Given the description of an element on the screen output the (x, y) to click on. 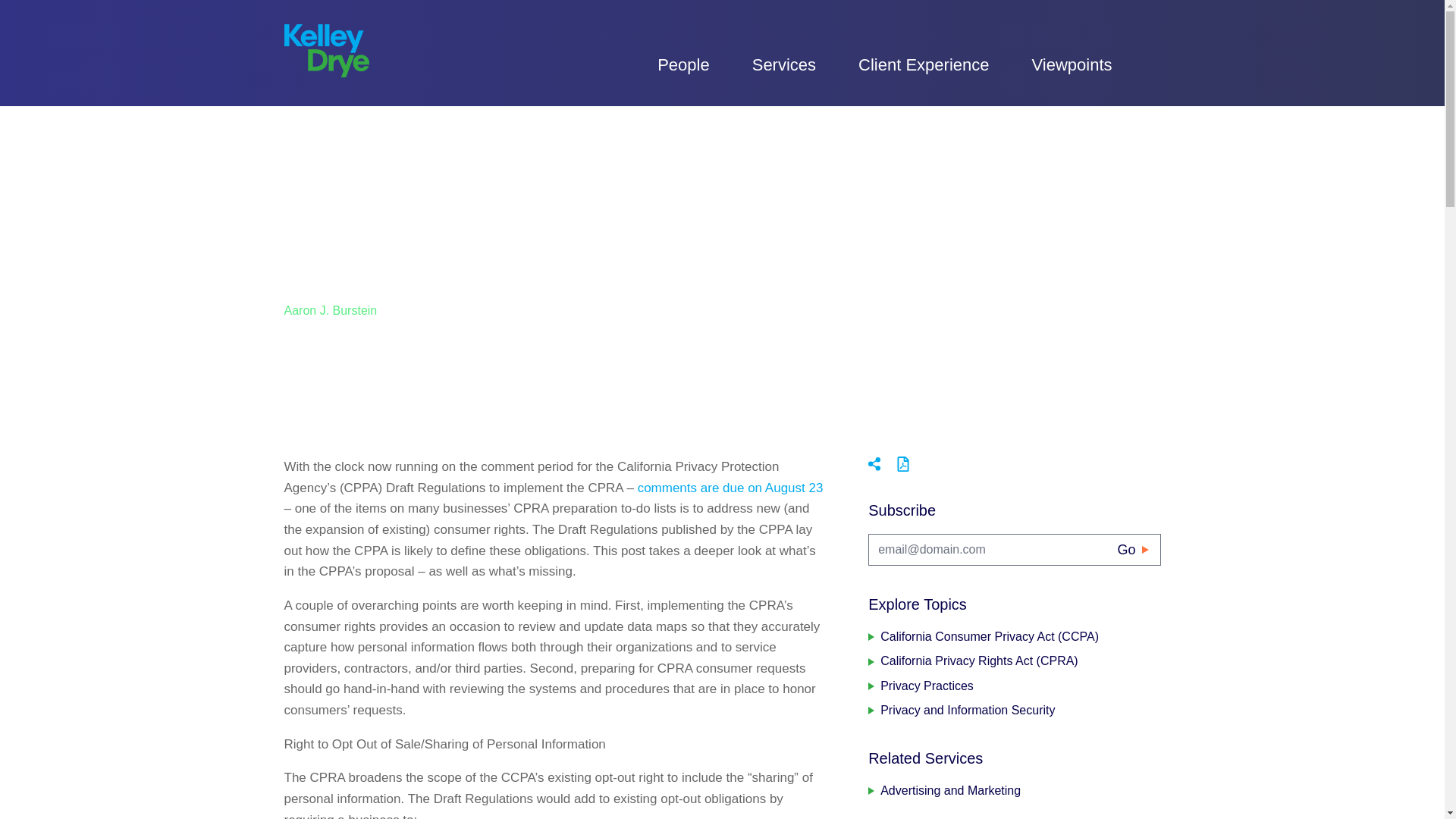
People (684, 64)
Services (783, 64)
